Given the description of an element on the screen output the (x, y) to click on. 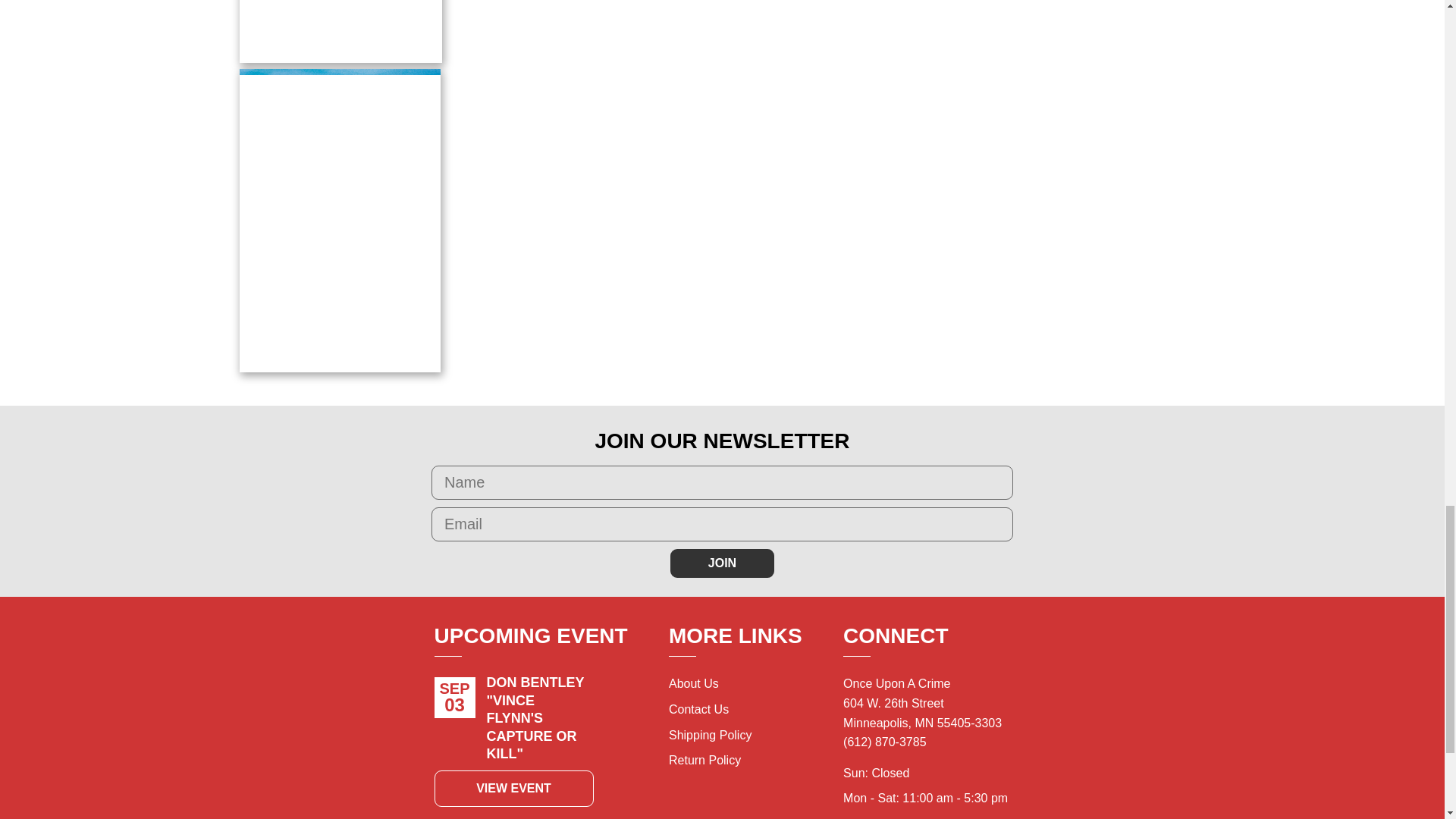
Return Policy (704, 759)
Join (721, 563)
Shipping Policy (709, 735)
Contact Us (698, 708)
Join (721, 563)
About Us (693, 683)
VIEW EVENT (512, 788)
